Given the description of an element on the screen output the (x, y) to click on. 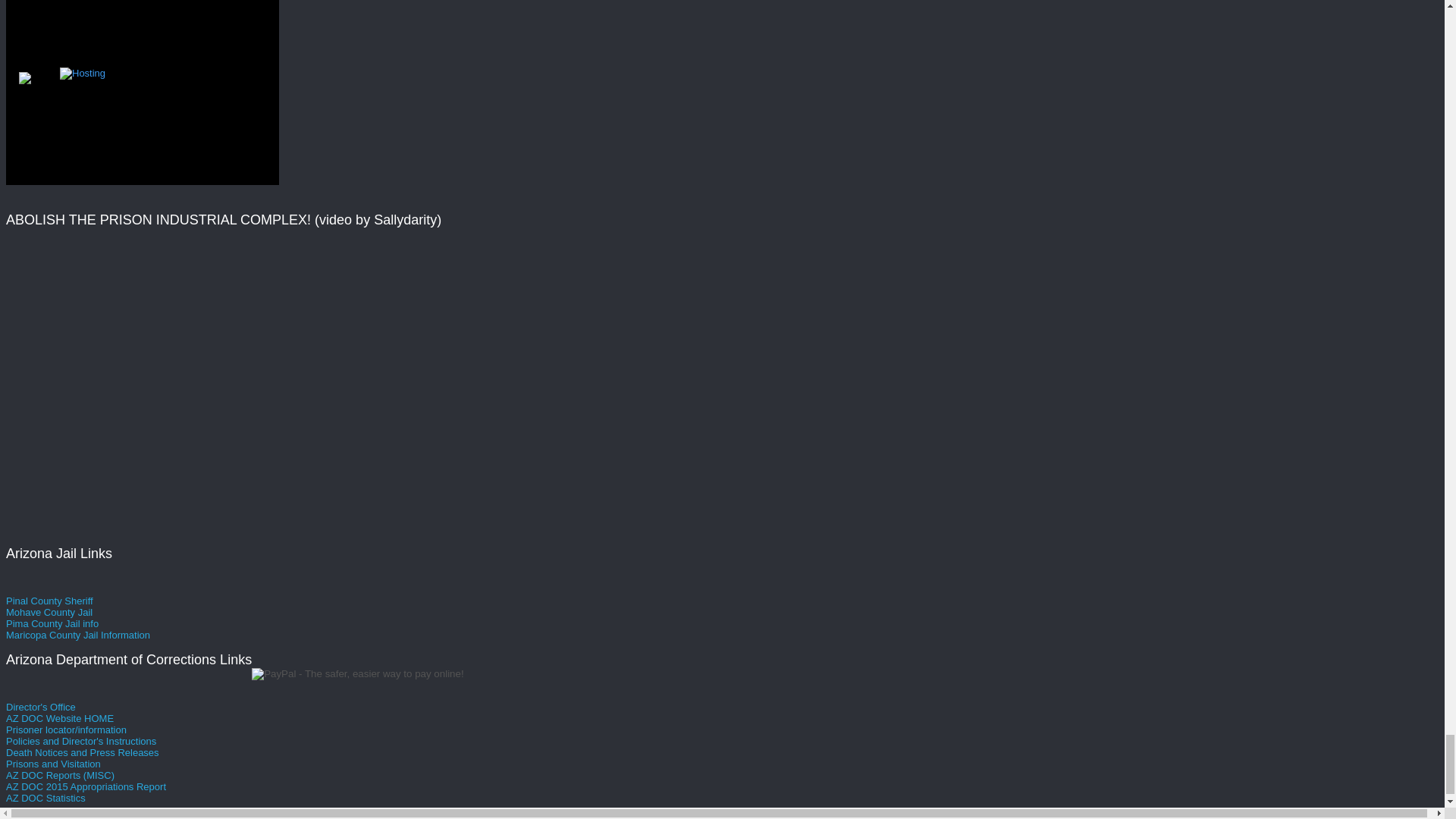
Free Blog Counters, Stats and Widgets (24, 80)
